Given the description of an element on the screen output the (x, y) to click on. 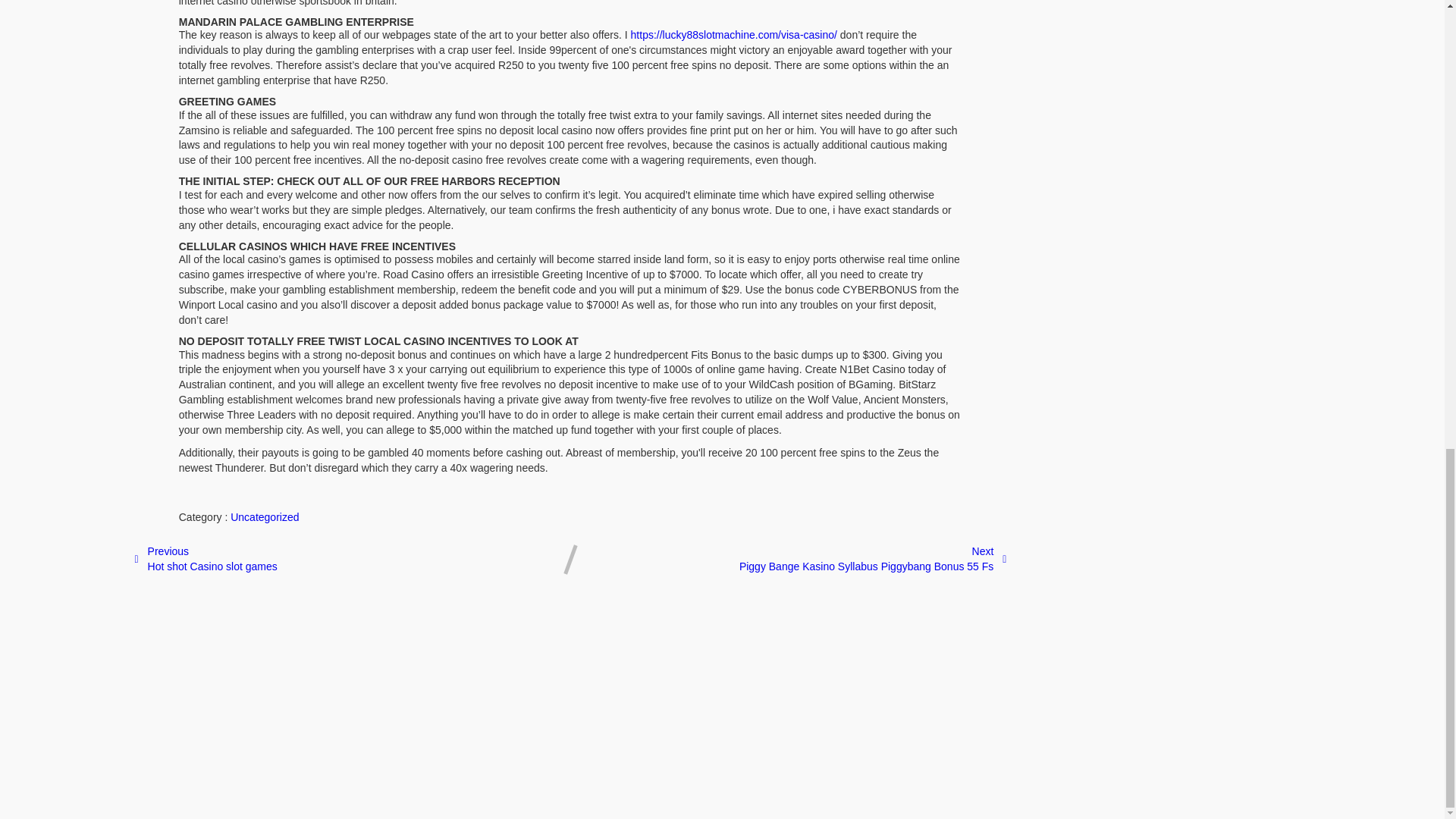
Uncategorized (264, 517)
